Given the description of an element on the screen output the (x, y) to click on. 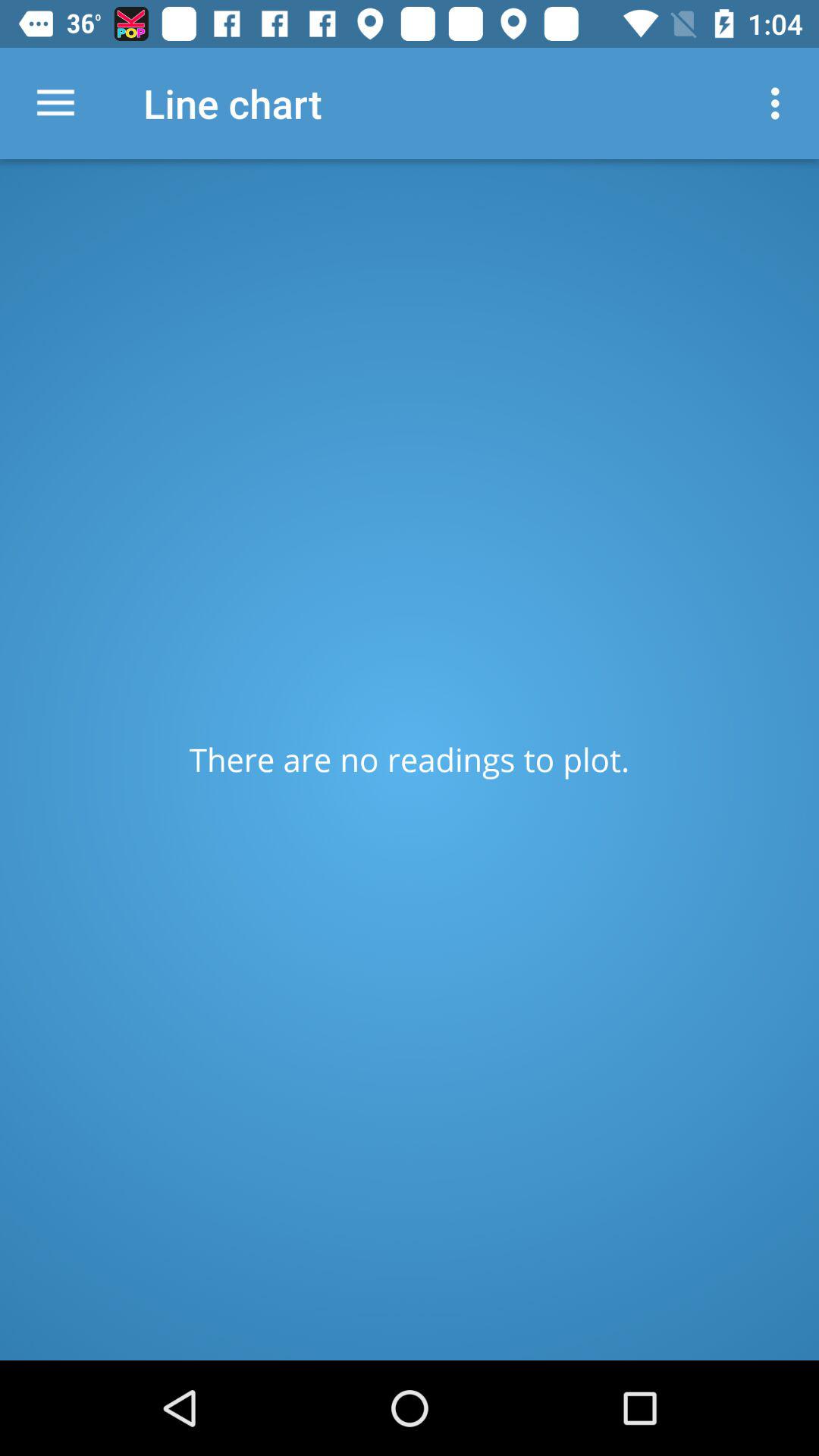
open item next to line chart icon (55, 103)
